Given the description of an element on the screen output the (x, y) to click on. 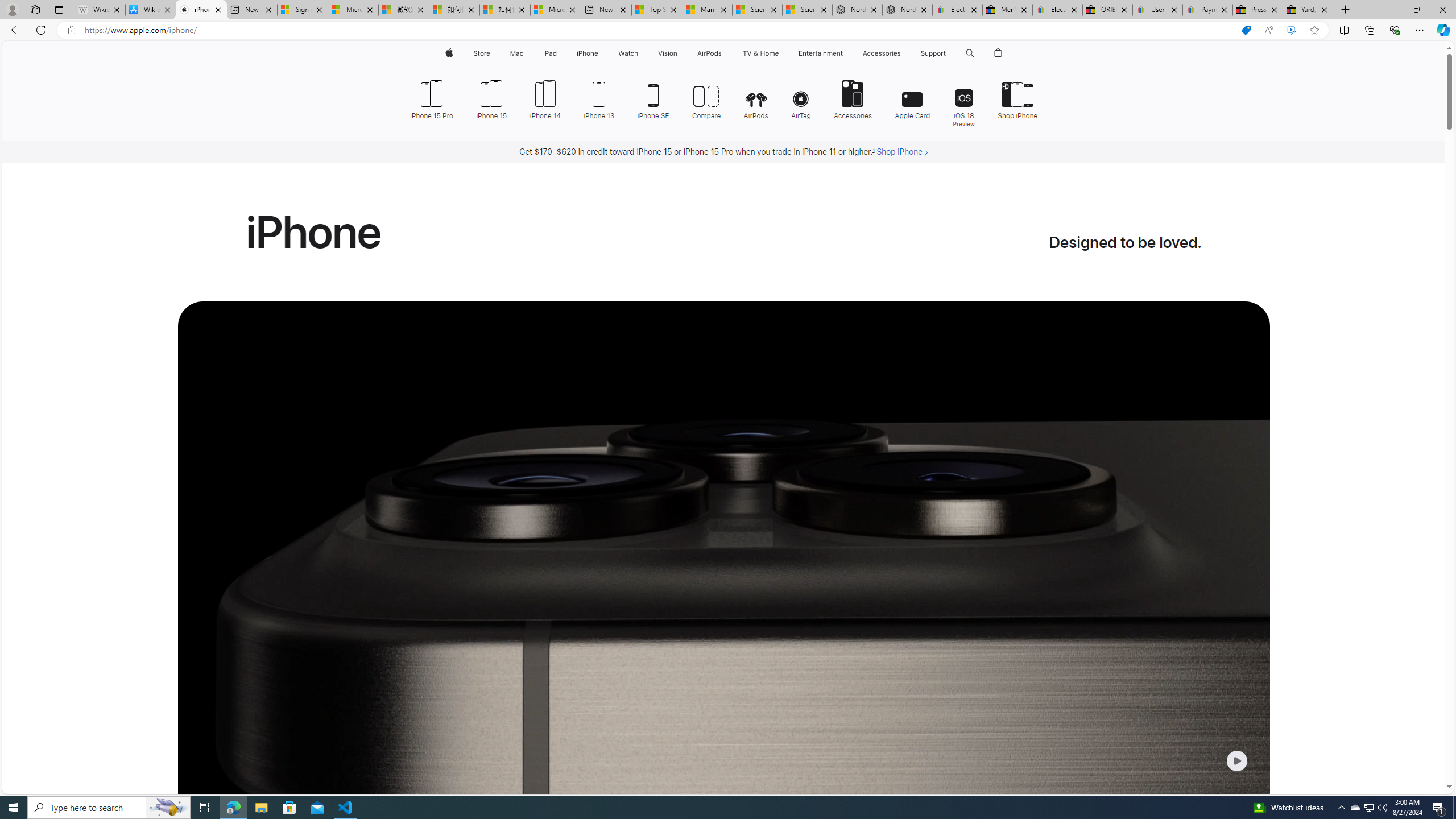
iPhone SE (653, 98)
iPhone 13 (598, 98)
Yard, Garden & Outdoor Living (1308, 9)
Payments Terms of Use | eBay.com (1207, 9)
User Privacy Notice | eBay (1158, 9)
Support (932, 53)
Store (481, 53)
Watch menu (640, 53)
iPhone 15 (491, 98)
